Given the description of an element on the screen output the (x, y) to click on. 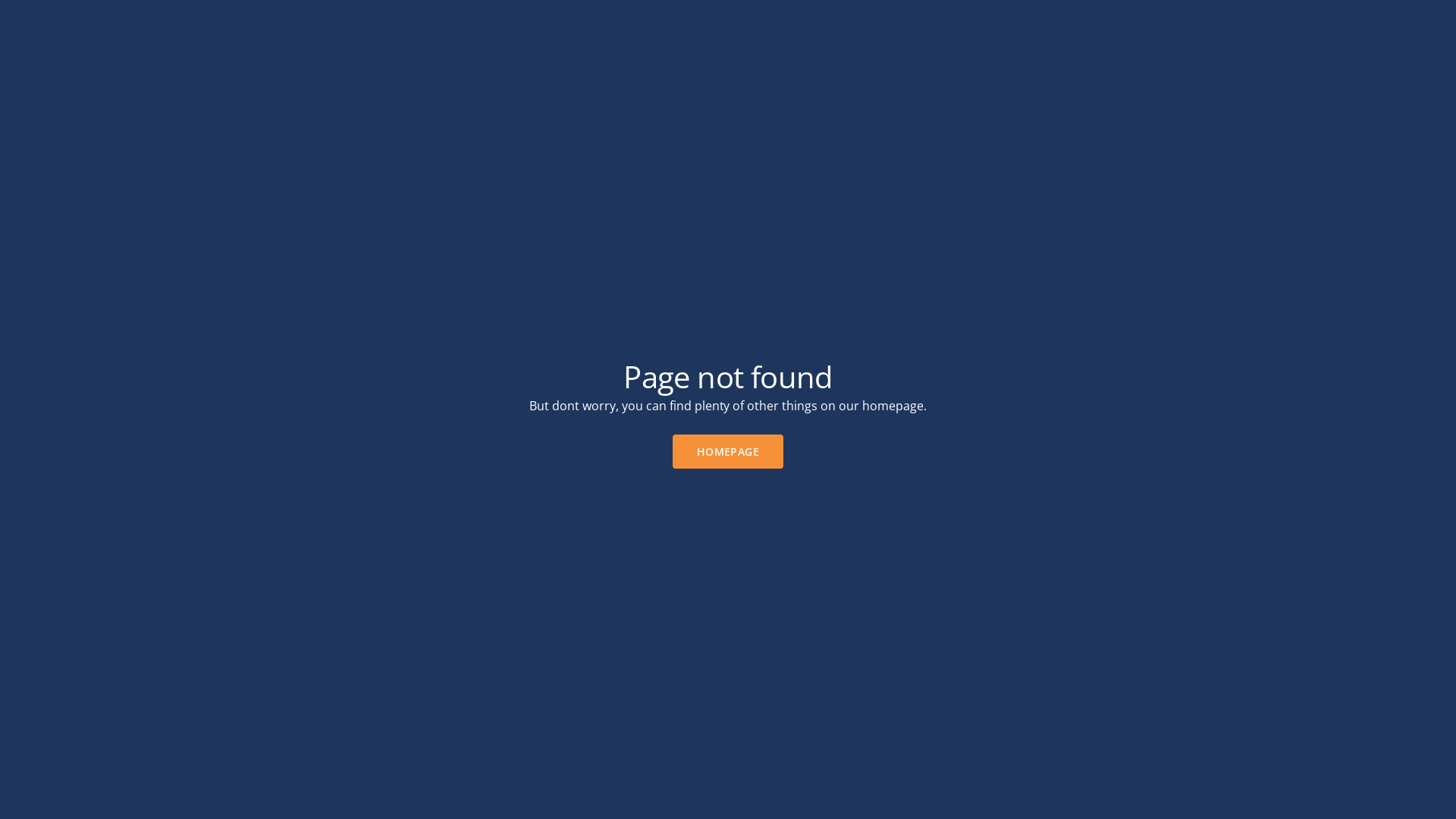
HOMEPAGE Element type: text (727, 451)
